Given the description of an element on the screen output the (x, y) to click on. 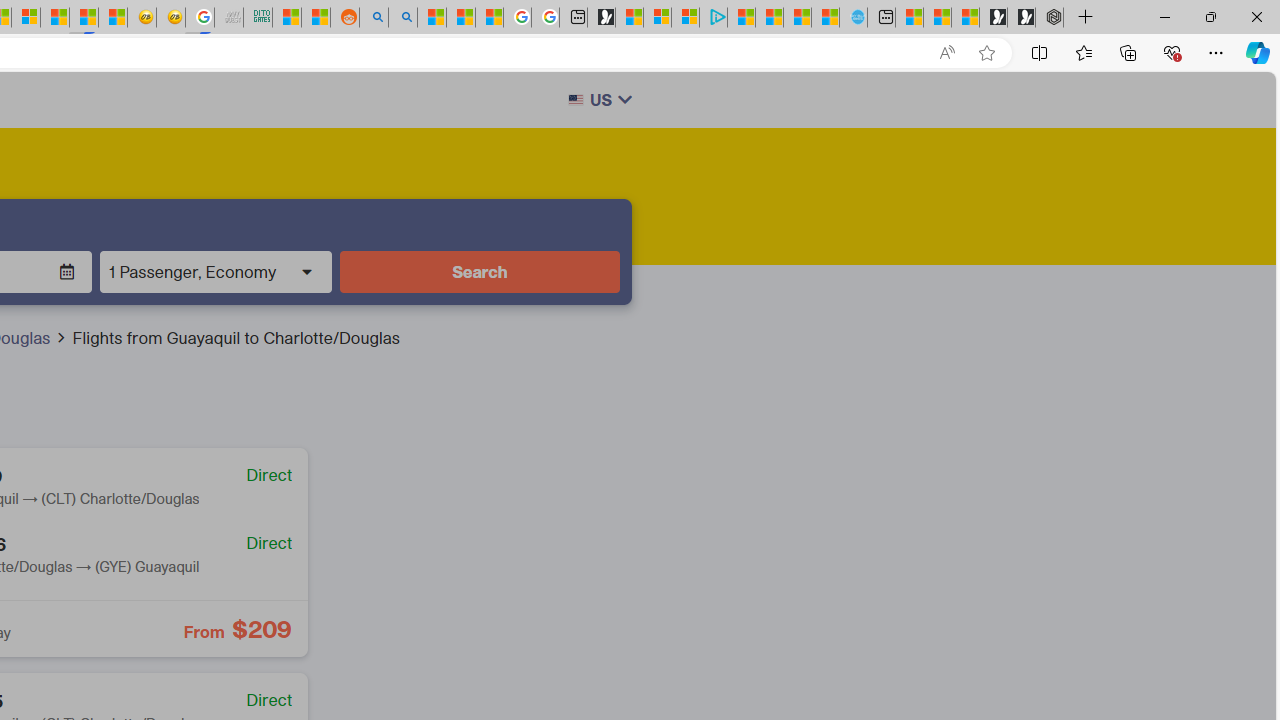
Class: w-full h-auto rounded-sm border border-gray-200 (575, 99)
